Given the description of an element on the screen output the (x, y) to click on. 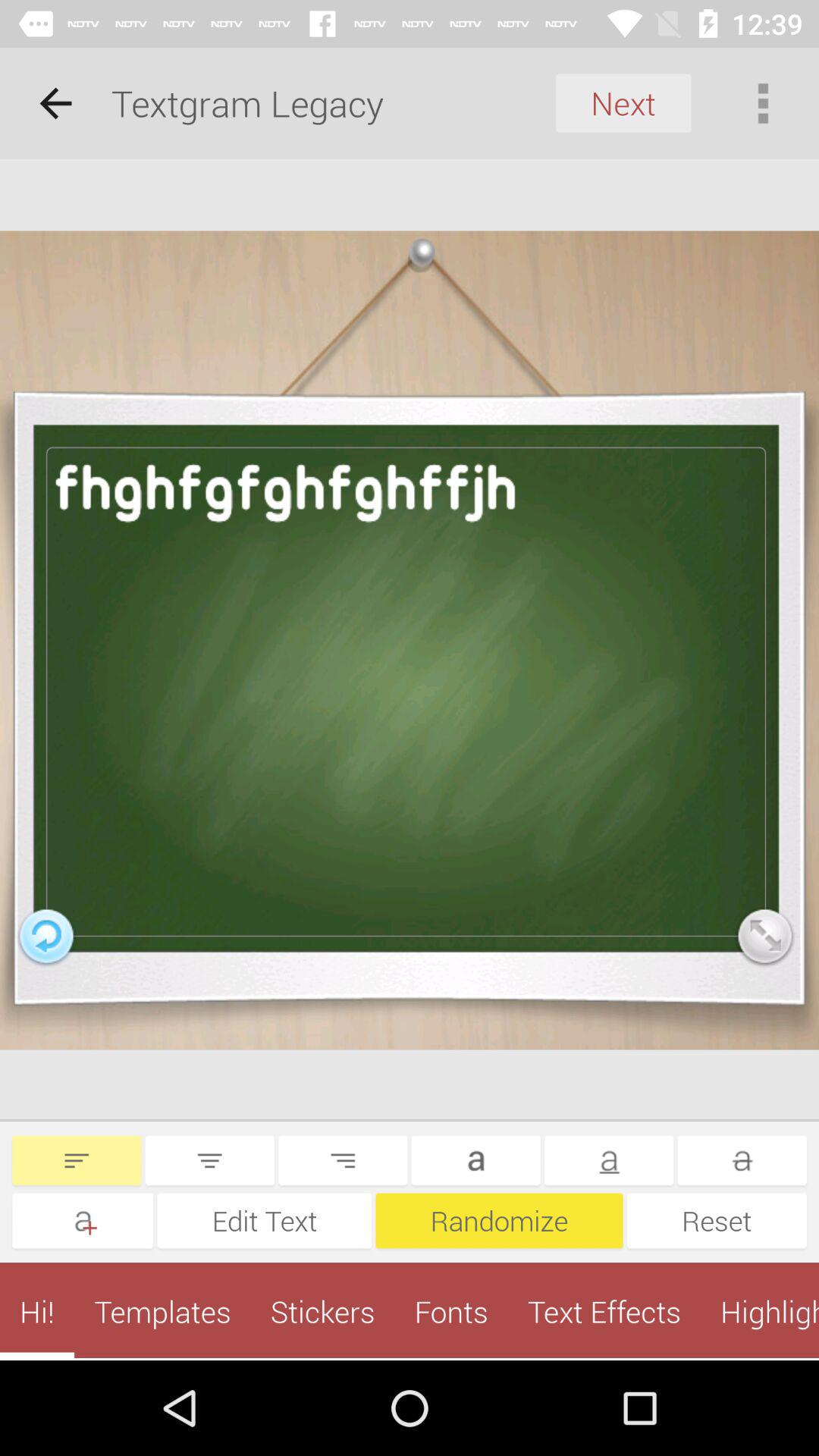
flip to the reset item (716, 1220)
